Given the description of an element on the screen output the (x, y) to click on. 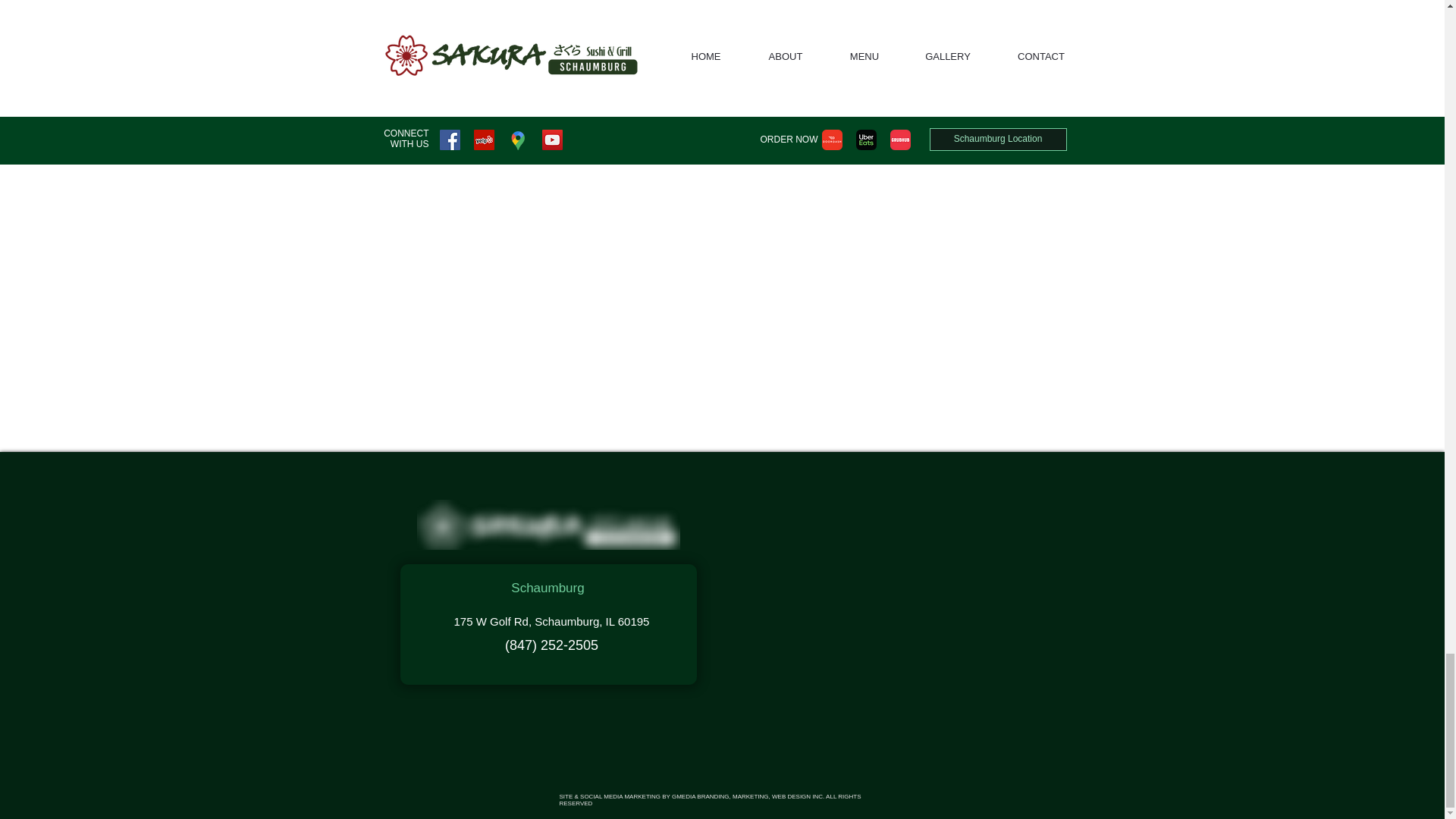
Embedded Content (895, 614)
